Given the description of an element on the screen output the (x, y) to click on. 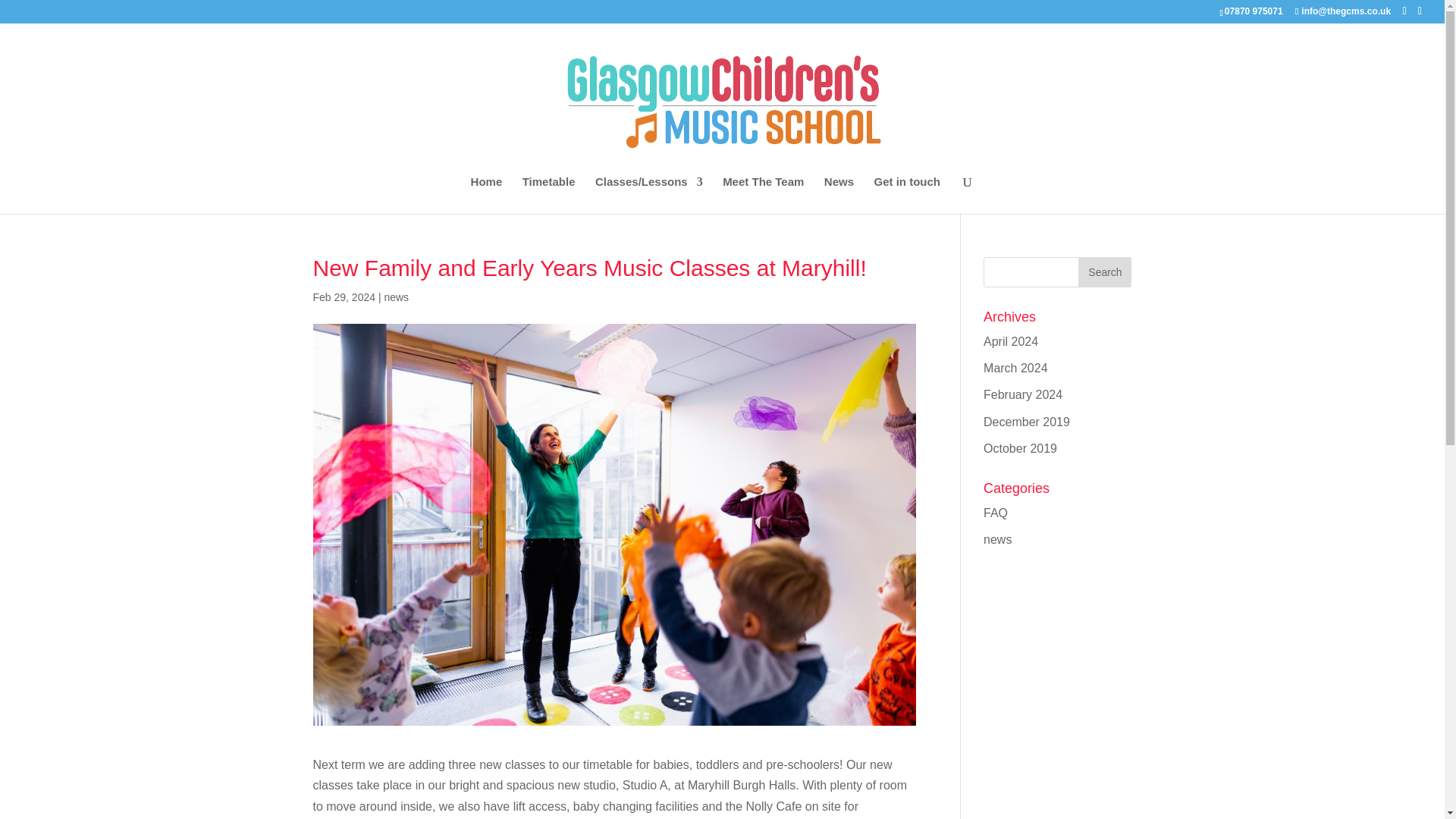
February 2024 (1023, 394)
Get in touch (906, 194)
Search (1104, 272)
October 2019 (1020, 448)
news (396, 297)
Meet The Team (762, 194)
FAQ (995, 512)
news (997, 539)
Timetable (548, 194)
April 2024 (1011, 341)
